Given the description of an element on the screen output the (x, y) to click on. 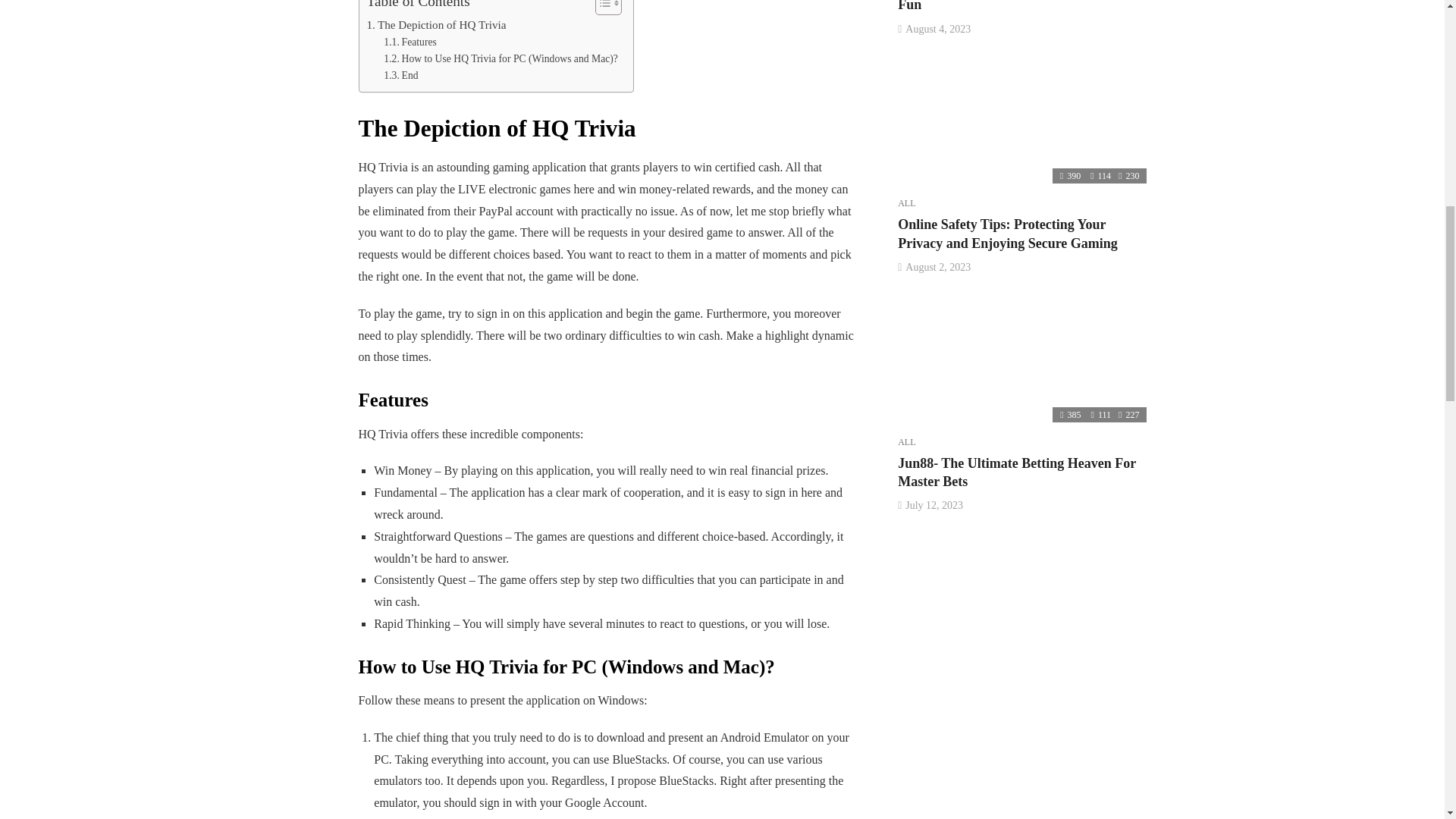
End (400, 75)
Features (410, 42)
The Depiction of HQ Trivia (436, 24)
Features (410, 42)
The Depiction of HQ Trivia (436, 24)
End (400, 75)
